Given the description of an element on the screen output the (x, y) to click on. 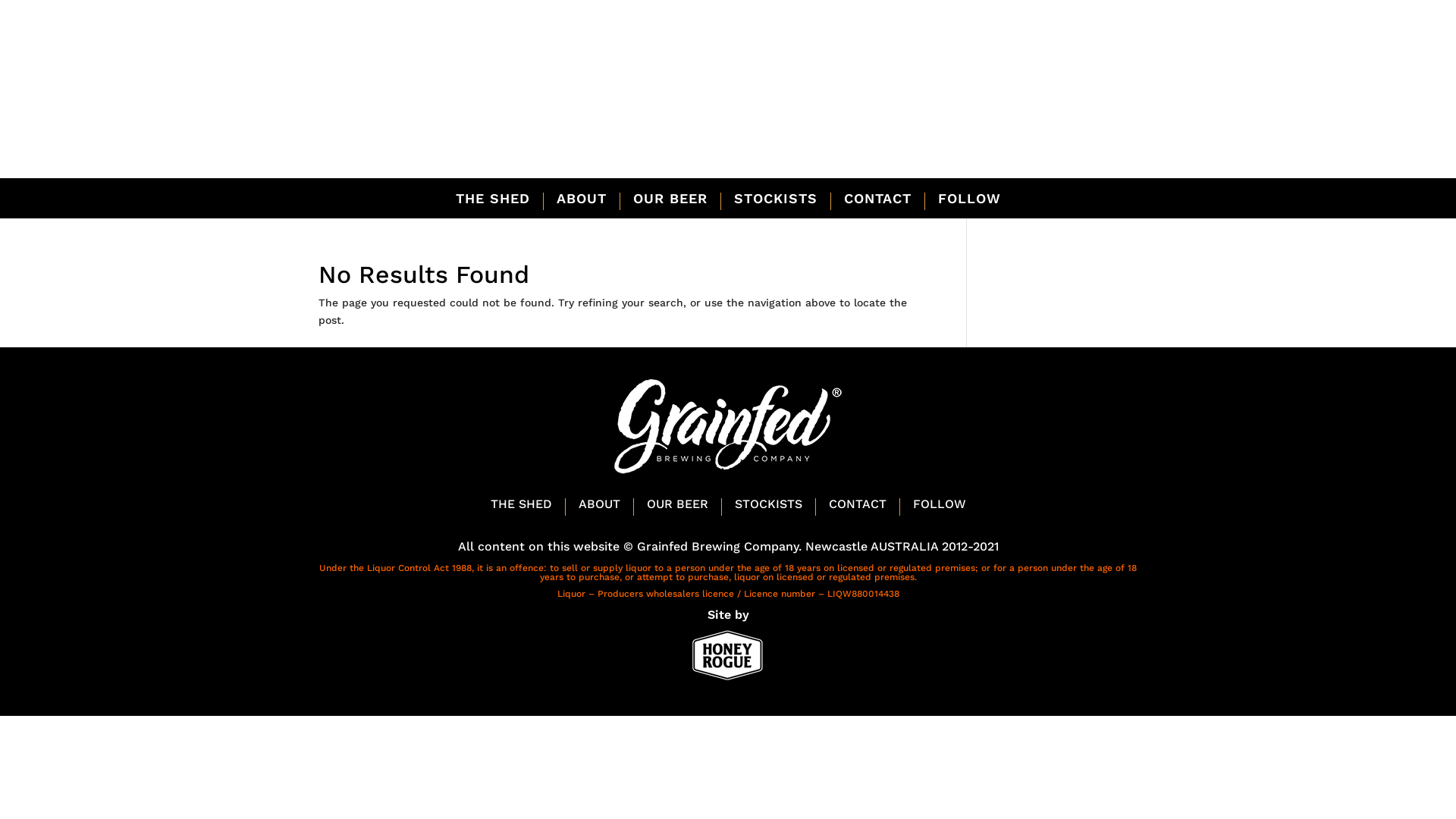
OUR BEER Element type: text (669, 201)
STOCKISTS Element type: text (775, 201)
CONTACT Element type: text (856, 506)
ABOUT Element type: text (581, 201)
Grainfed-Brewing-Logo Element type: hover (727, 80)
ABOUT Element type: text (598, 506)
FOLLOW Element type: text (968, 201)
CONTACT Element type: text (876, 201)
OUR BEER Element type: text (676, 506)
THE SHED Element type: text (491, 201)
FOLLOW Element type: text (939, 506)
Grainfed-Logo_Footer Element type: hover (727, 426)
STOCKISTS Element type: text (767, 506)
THE SHED Element type: text (520, 506)
